Given the description of an element on the screen output the (x, y) to click on. 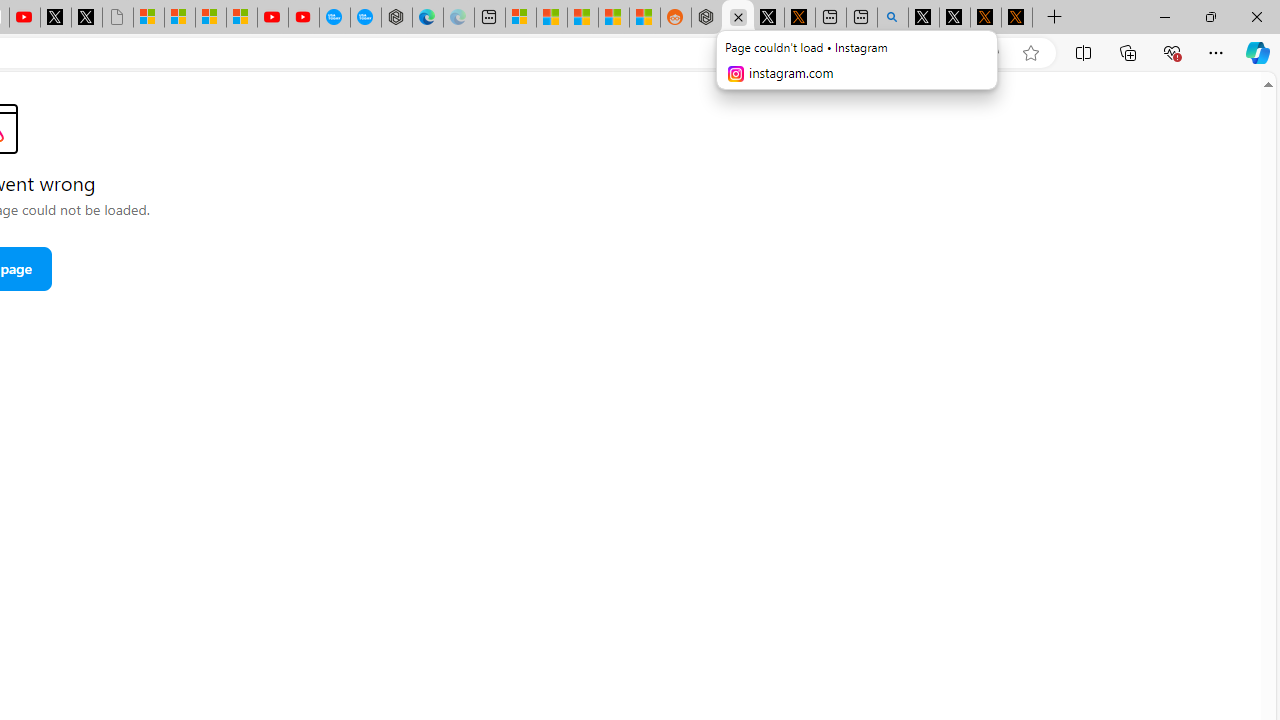
Profile / X (923, 17)
